Given the description of an element on the screen output the (x, y) to click on. 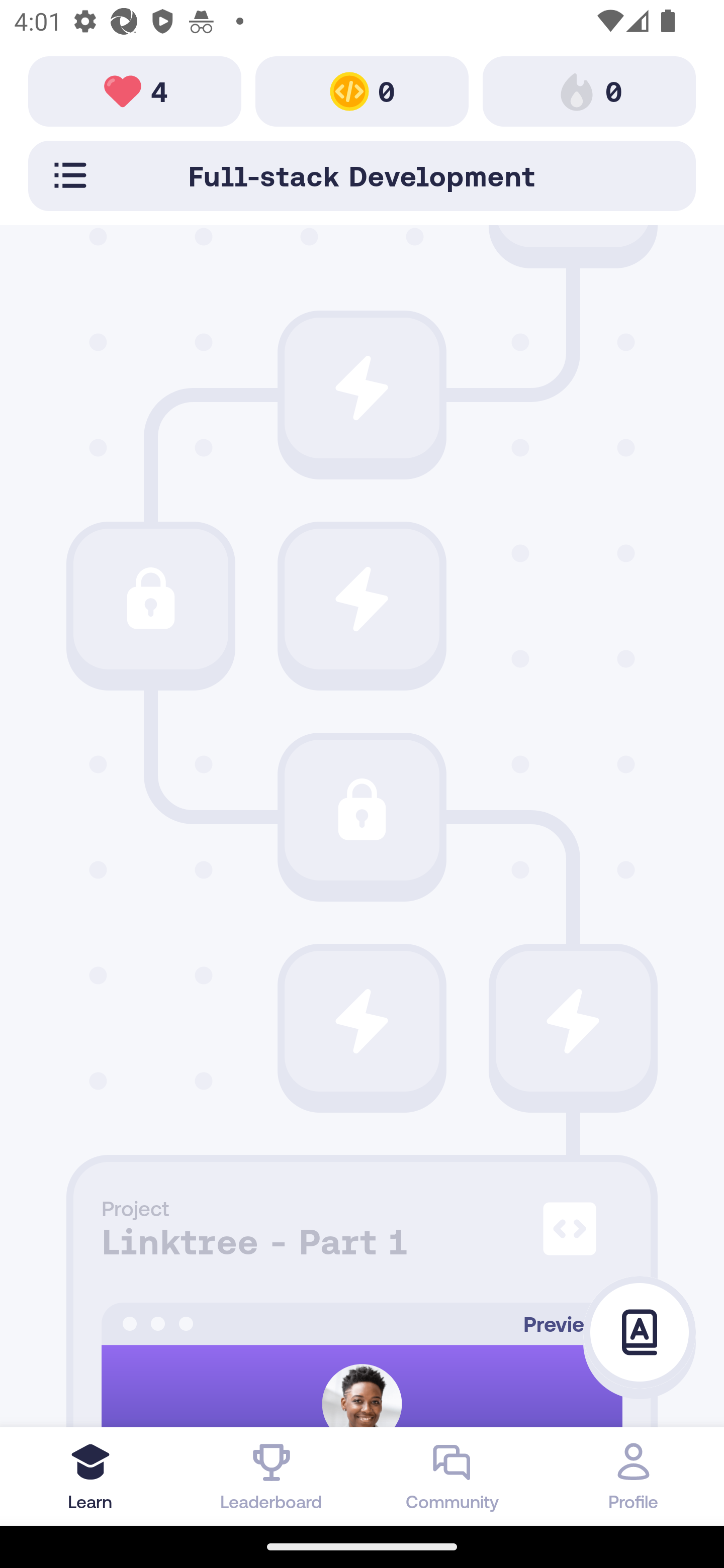
Path Toolbar Image 4 (134, 90)
Path Toolbar Image 0 (361, 90)
Path Toolbar Image 0 (588, 90)
Path Toolbar Selector Full-stack Development (361, 175)
Path Icon (361, 387)
Path Icon (150, 598)
Path Icon (361, 598)
Path Icon (361, 810)
Path Icon (361, 1020)
Path Icon (572, 1020)
Glossary Icon (639, 1332)
Leaderboard (271, 1475)
Community (452, 1475)
Profile (633, 1475)
